Given the description of an element on the screen output the (x, y) to click on. 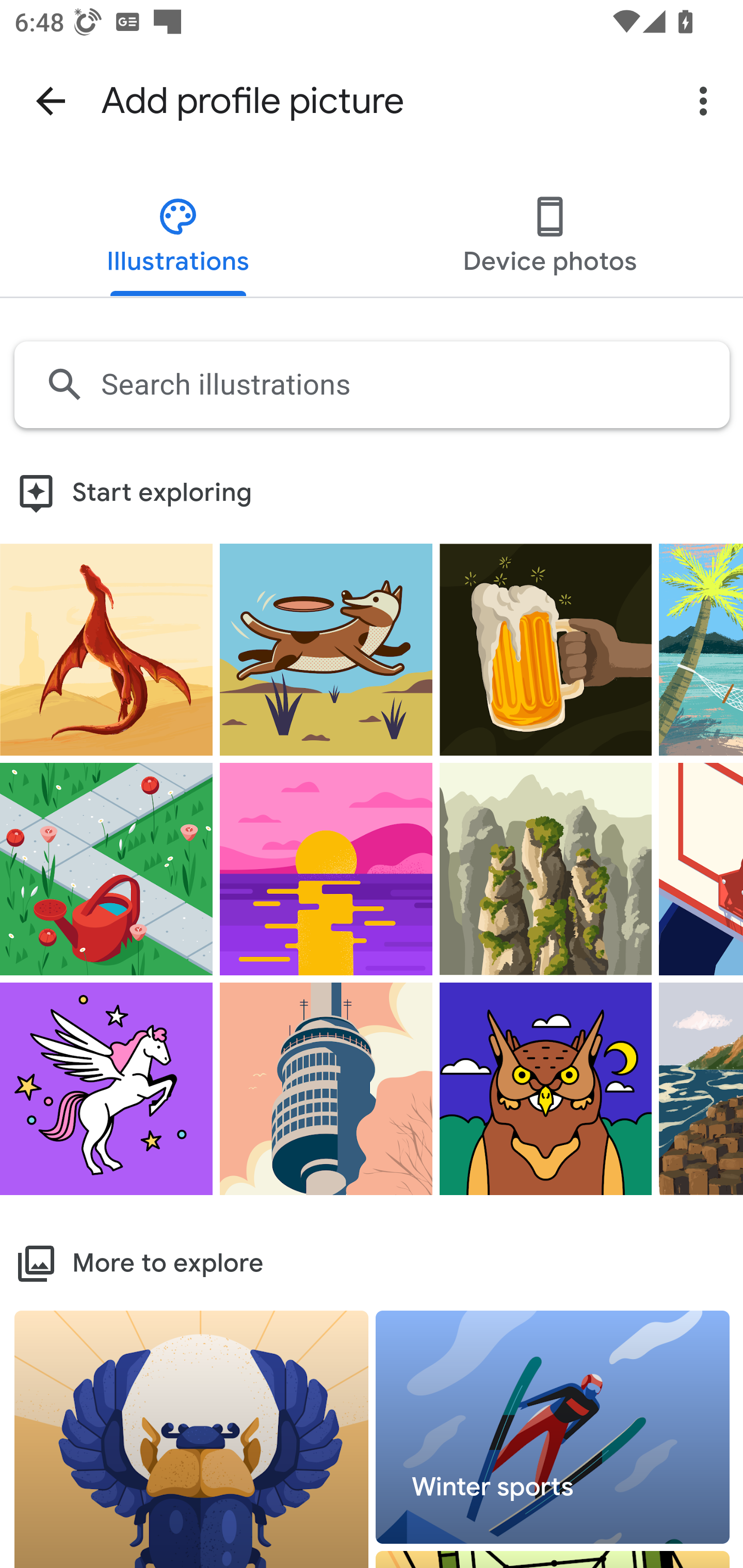
Navigate up (50, 101)
More options (706, 101)
Illustrations (178, 238)
Device photos (549, 238)
Flying wyvern (106, 647)
Dog jumps to catch flying disc (325, 647)
Hand holding a full beer mug (545, 647)
Watering can in flower garden (106, 869)
Colorful sunset is reflected in water (325, 869)
Zhangjiajie sandstone columns (545, 869)
Pegasus rears up (106, 1087)
Trees grow near Namsan Tower (325, 1087)
Alert owl at night (545, 1087)
Luck and blessings (192, 1438)
Winter sports (553, 1427)
